Given the description of an element on the screen output the (x, y) to click on. 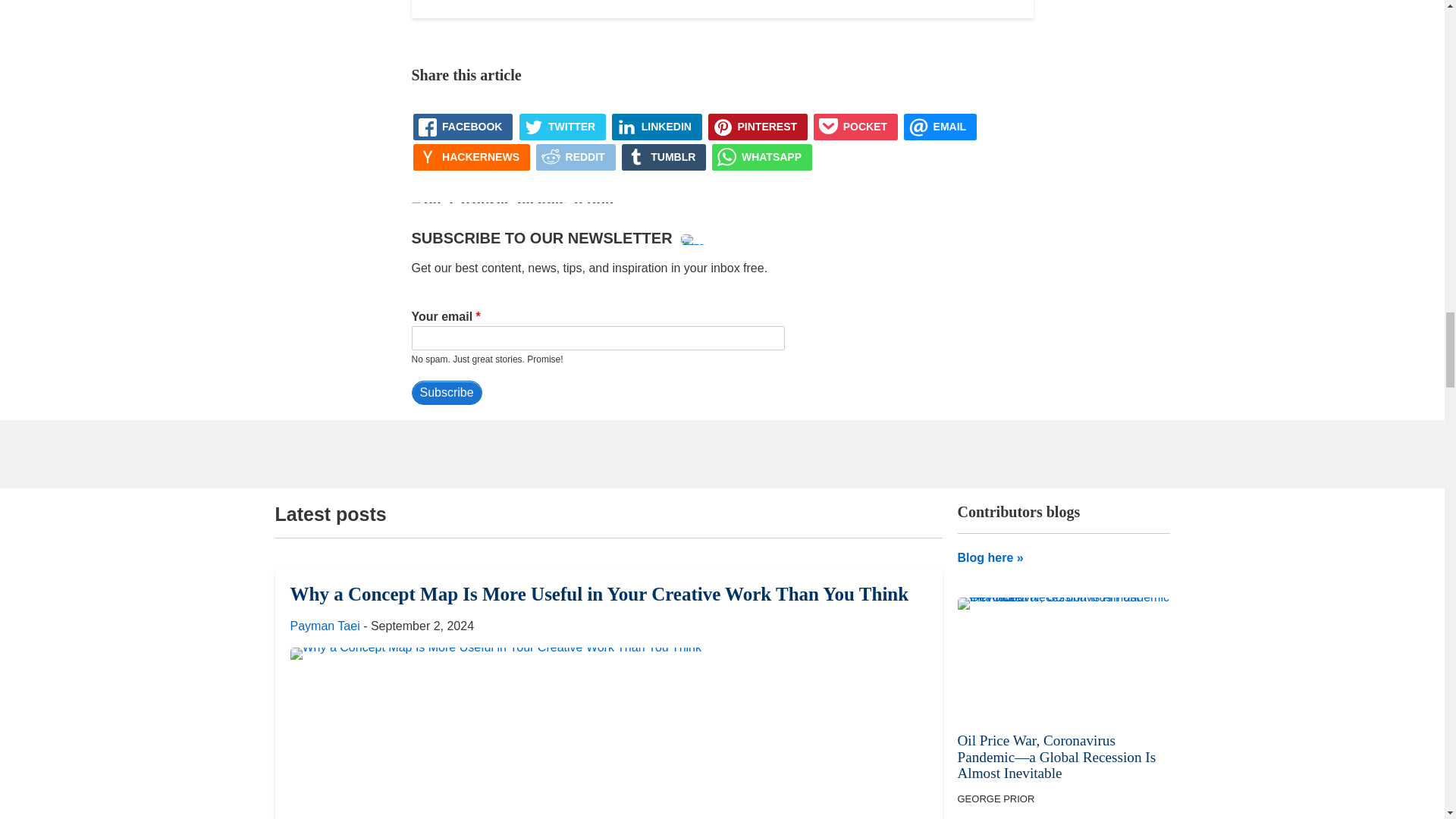
TWITTER (563, 126)
REDDIT (575, 157)
POCKET (855, 126)
FACEBOOK (463, 126)
PINTEREST (757, 126)
HACKERNEWS (471, 157)
LINKEDIN (656, 126)
Subscribe (445, 392)
EMAIL (940, 126)
